Given the description of an element on the screen output the (x, y) to click on. 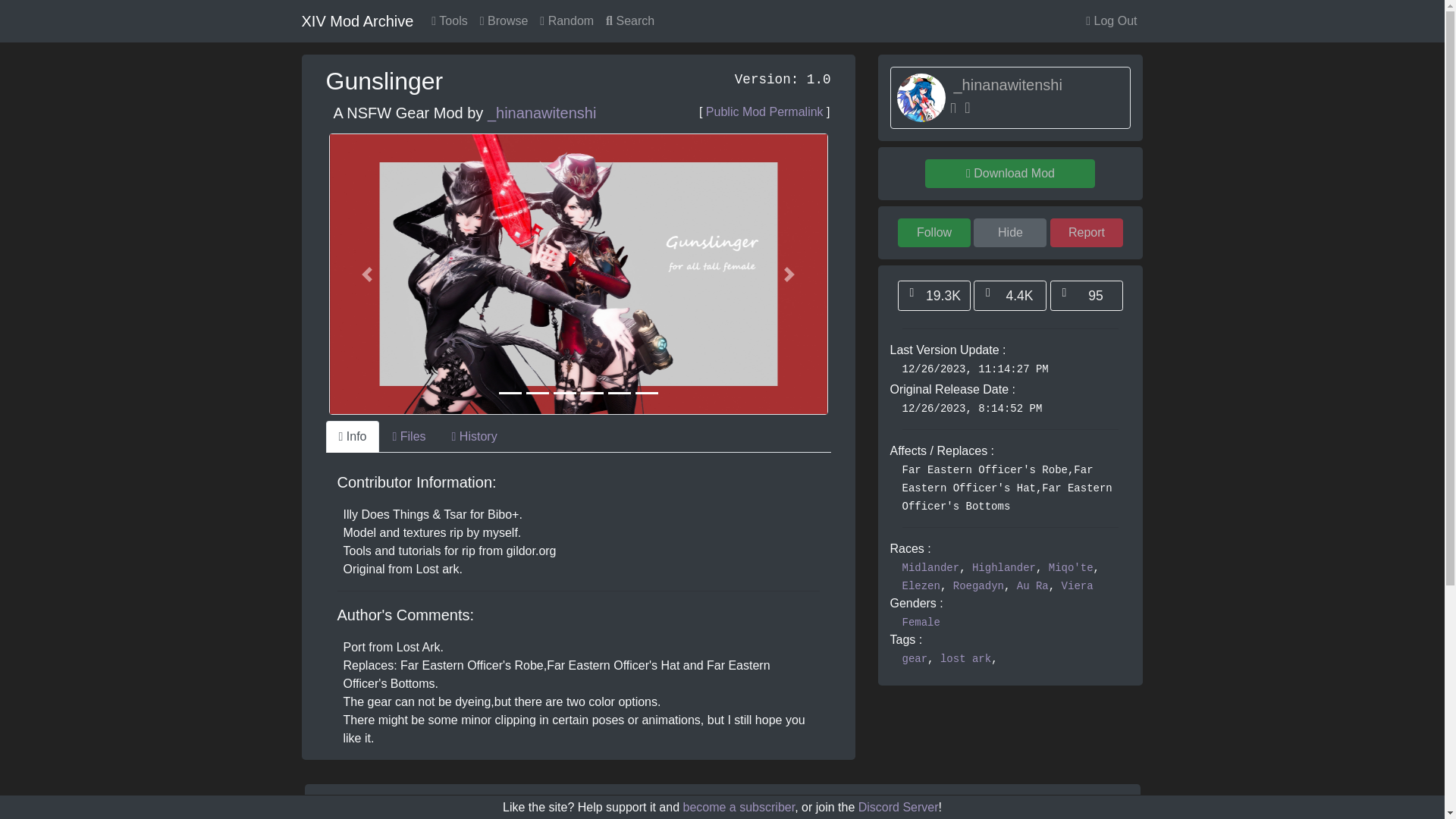
lost ark (965, 658)
Hide (1010, 232)
History (475, 436)
Public Mod Permalink (765, 111)
Elezen (921, 585)
Download Mod (1009, 173)
Tools (449, 20)
Follow (934, 232)
Search (630, 20)
Info (353, 436)
Random (566, 20)
Female (921, 622)
XIV Mod Archive (357, 20)
Viera (1077, 585)
Roegadyn (978, 585)
